Given the description of an element on the screen output the (x, y) to click on. 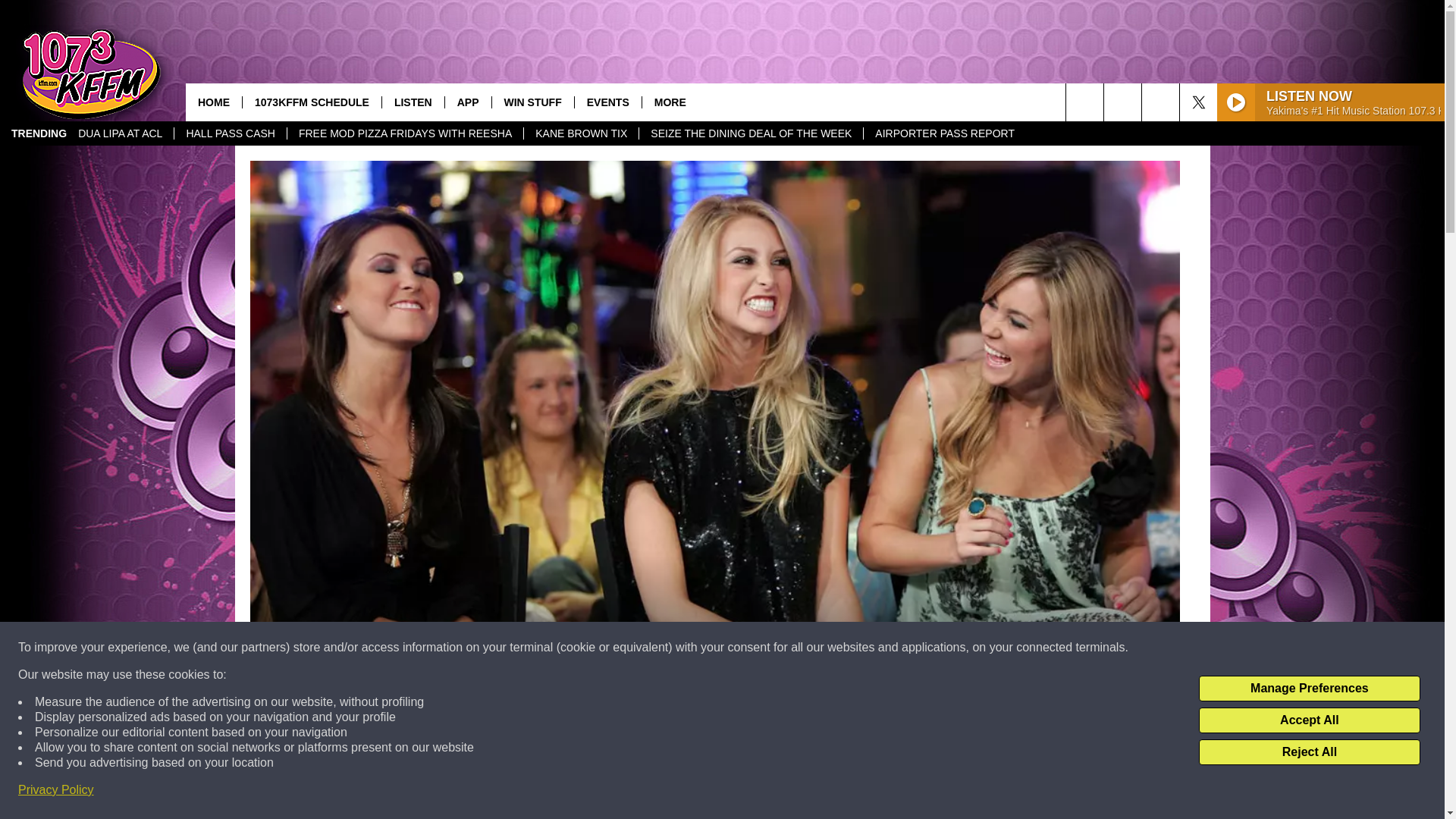
KANE BROWN TIX (580, 133)
Privacy Policy (55, 789)
HOME (213, 102)
Manage Preferences (1309, 688)
Accept All (1309, 720)
Share on Twitter (912, 791)
WIN STUFF (532, 102)
1073KFFM SCHEDULE (311, 102)
SEIZE THE DINING DEAL OF THE WEEK (751, 133)
HALL PASS CASH (229, 133)
Share on Facebook (517, 791)
Reject All (1309, 751)
AIRPORTER PASS REPORT (944, 133)
APP (468, 102)
FREE MOD PIZZA FRIDAYS WITH REESHA (404, 133)
